Given the description of an element on the screen output the (x, y) to click on. 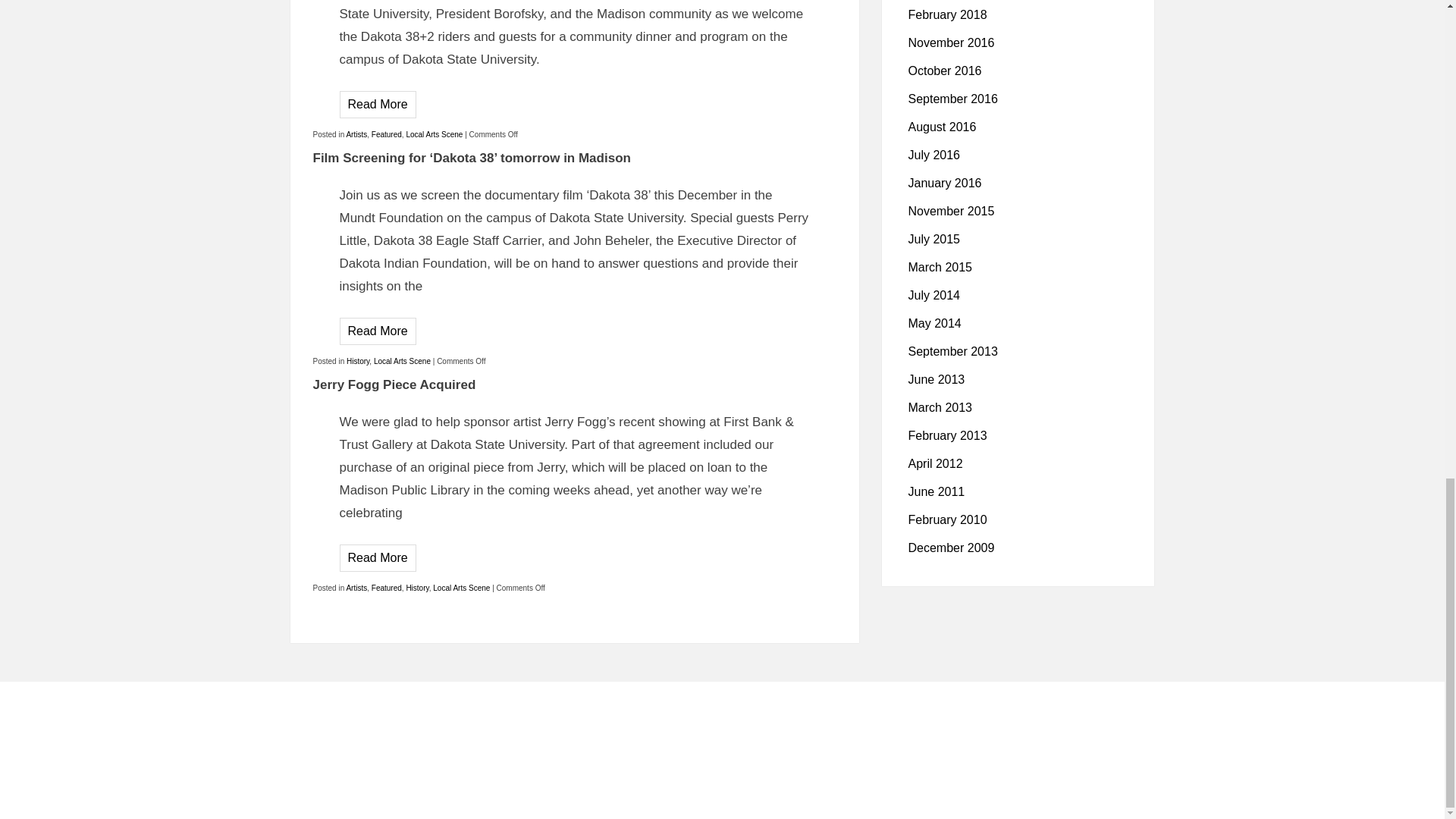
Artists (356, 134)
Local Arts Scene (434, 134)
Read More (377, 330)
Read More (377, 103)
Local Arts Scene (402, 361)
History (357, 361)
Featured (386, 134)
